Given the description of an element on the screen output the (x, y) to click on. 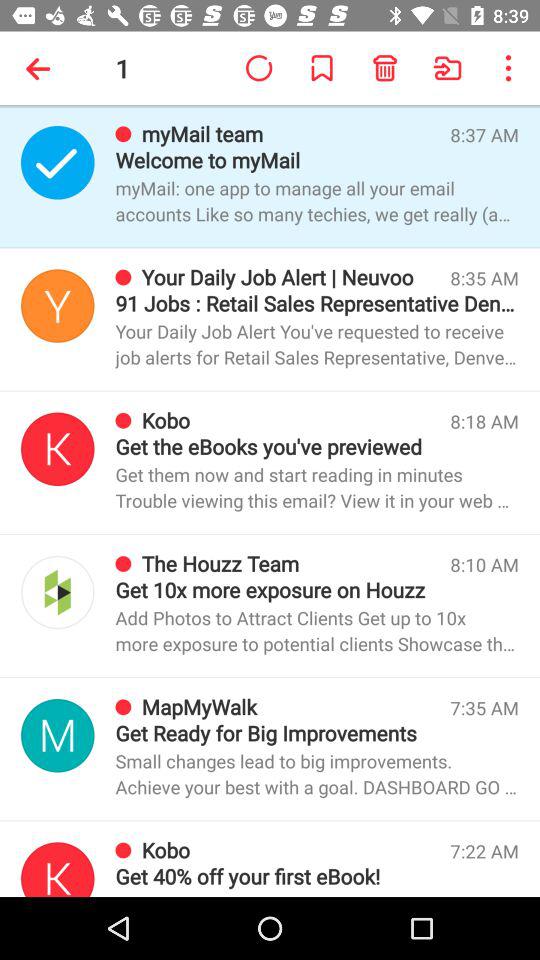
opens email (57, 735)
